Given the description of an element on the screen output the (x, y) to click on. 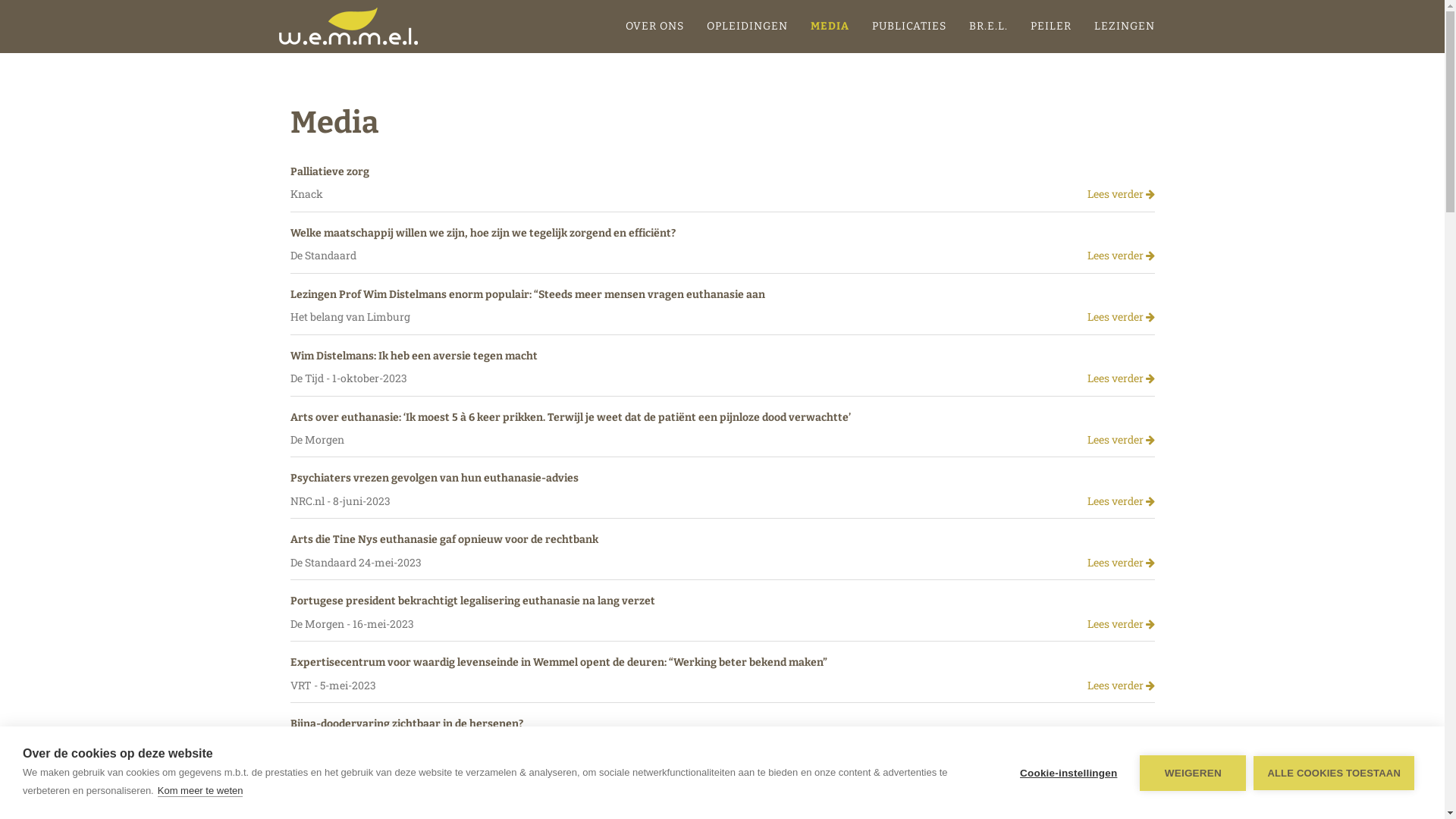
LEZINGEN Element type: text (1124, 26)
Lees verder Element type: text (1120, 501)
Lees verder Element type: text (1120, 562)
Opinie: 'Neem euthanasievraag serieus' Element type: text (390, 784)
Lees verder Element type: text (1120, 194)
MEDIA Element type: text (829, 26)
Lees verder Element type: text (1120, 746)
Kom meer te weten Element type: text (200, 790)
Lees verder Element type: text (1120, 439)
Lees verder Element type: text (1120, 807)
Palliatieve zorg Element type: text (328, 171)
Arts die Tine Nys euthanasie gaf opnieuw voor de rechtbank Element type: text (443, 539)
ALLE COOKIES TOESTAAN Element type: text (1333, 772)
Lees verder Element type: text (1120, 685)
Cookie-instellingen Element type: text (1068, 772)
OPLEIDINGEN Element type: text (746, 26)
PUBLICATIES Element type: text (908, 26)
Wim Distelmans: Ik heb een aversie tegen macht Element type: text (412, 355)
Lees verder Element type: text (1120, 255)
Lees verder Element type: text (1120, 316)
OVER ONS Element type: text (654, 26)
WEIGEREN Element type: text (1192, 772)
Bijna-doodervaring zichtbaar in de hersenen? Element type: text (405, 723)
PEILER Element type: text (1050, 26)
BR.E.L. Element type: text (987, 26)
Psychiaters vrezen gevolgen van hun euthanasie-advies Element type: text (433, 477)
Lees verder Element type: text (1120, 624)
Lees verder Element type: text (1120, 378)
